Given the description of an element on the screen output the (x, y) to click on. 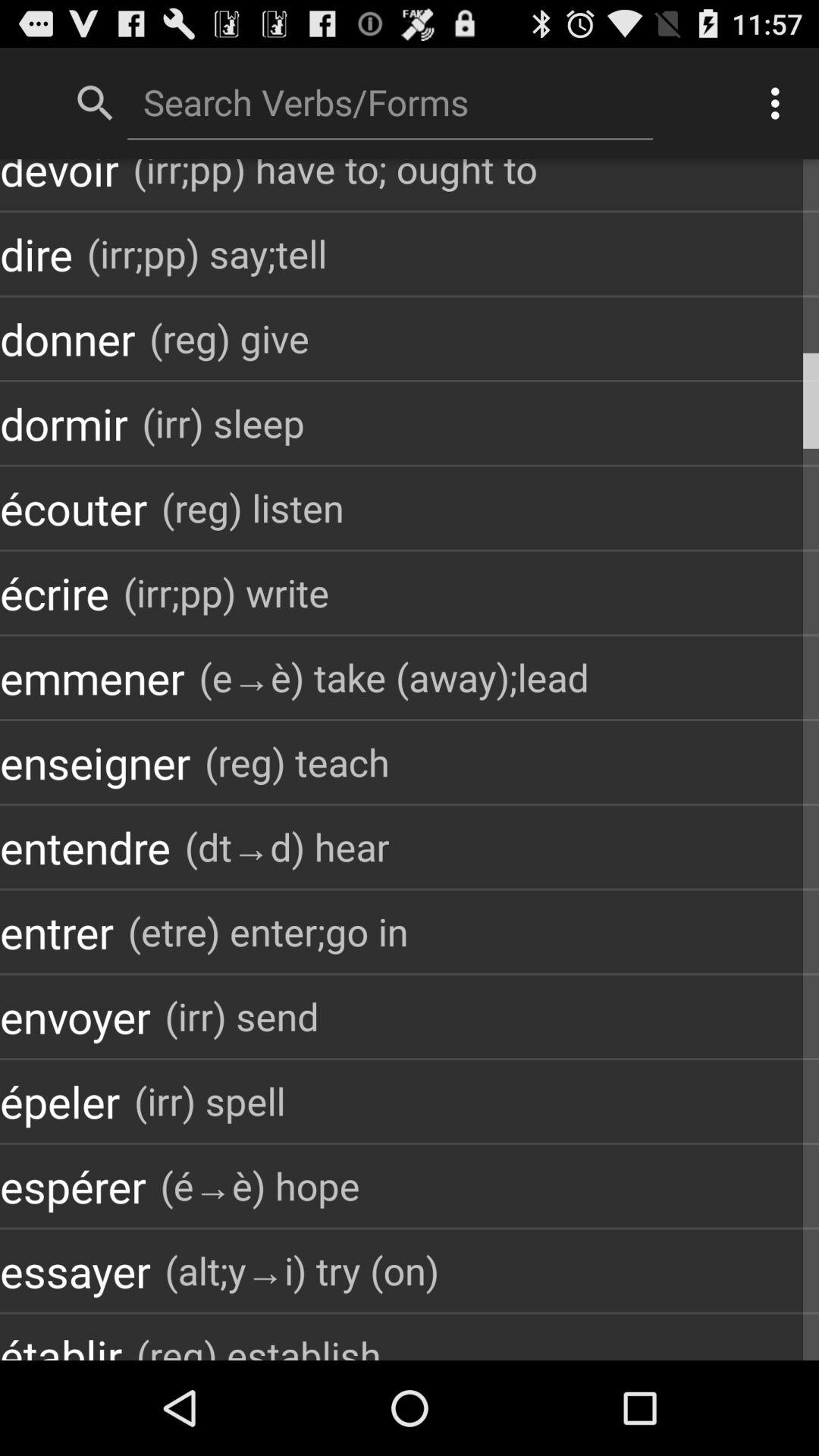
turn on the item above enseigner item (92, 677)
